Given the description of an element on the screen output the (x, y) to click on. 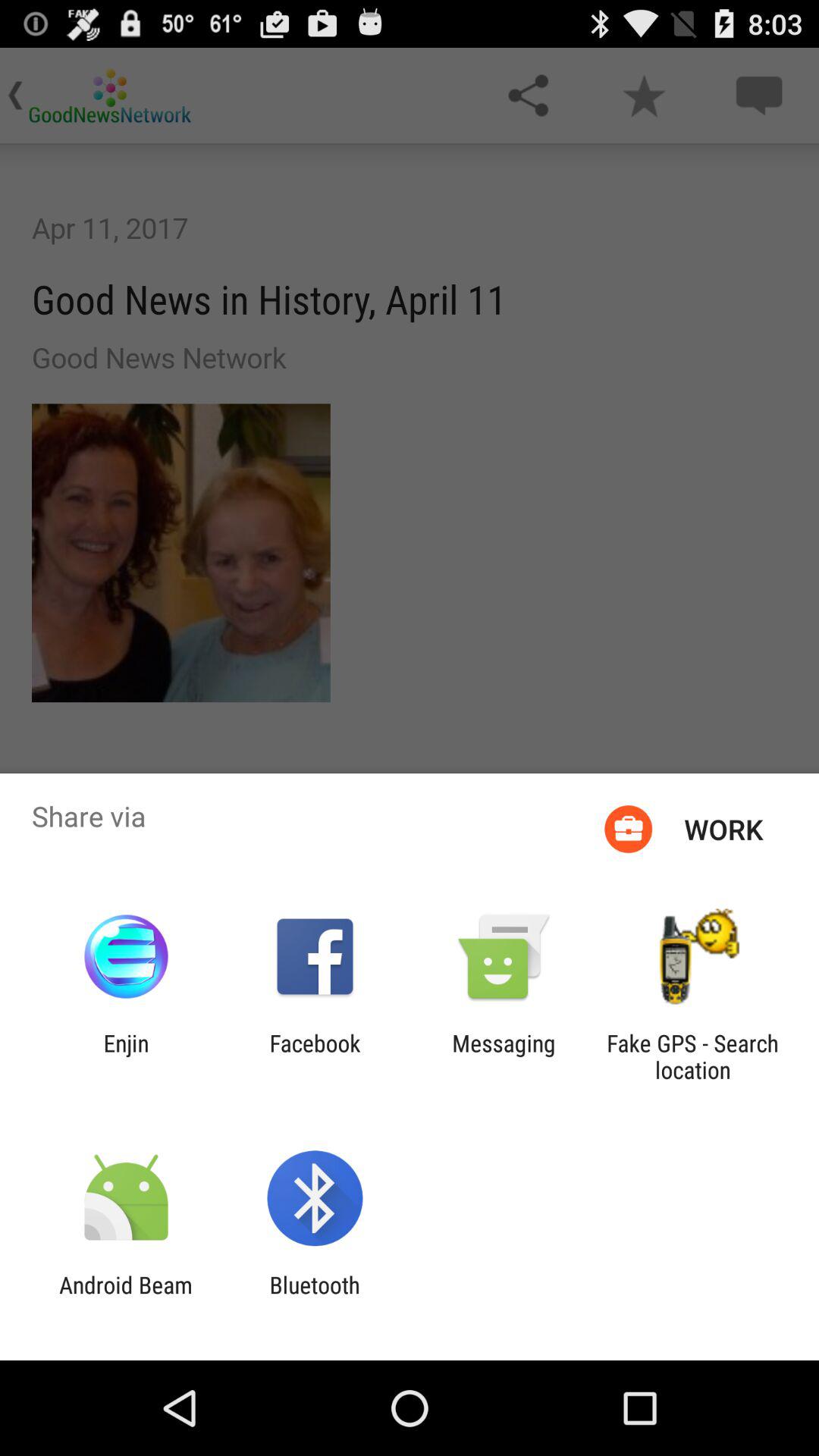
flip to the fake gps search item (692, 1056)
